Given the description of an element on the screen output the (x, y) to click on. 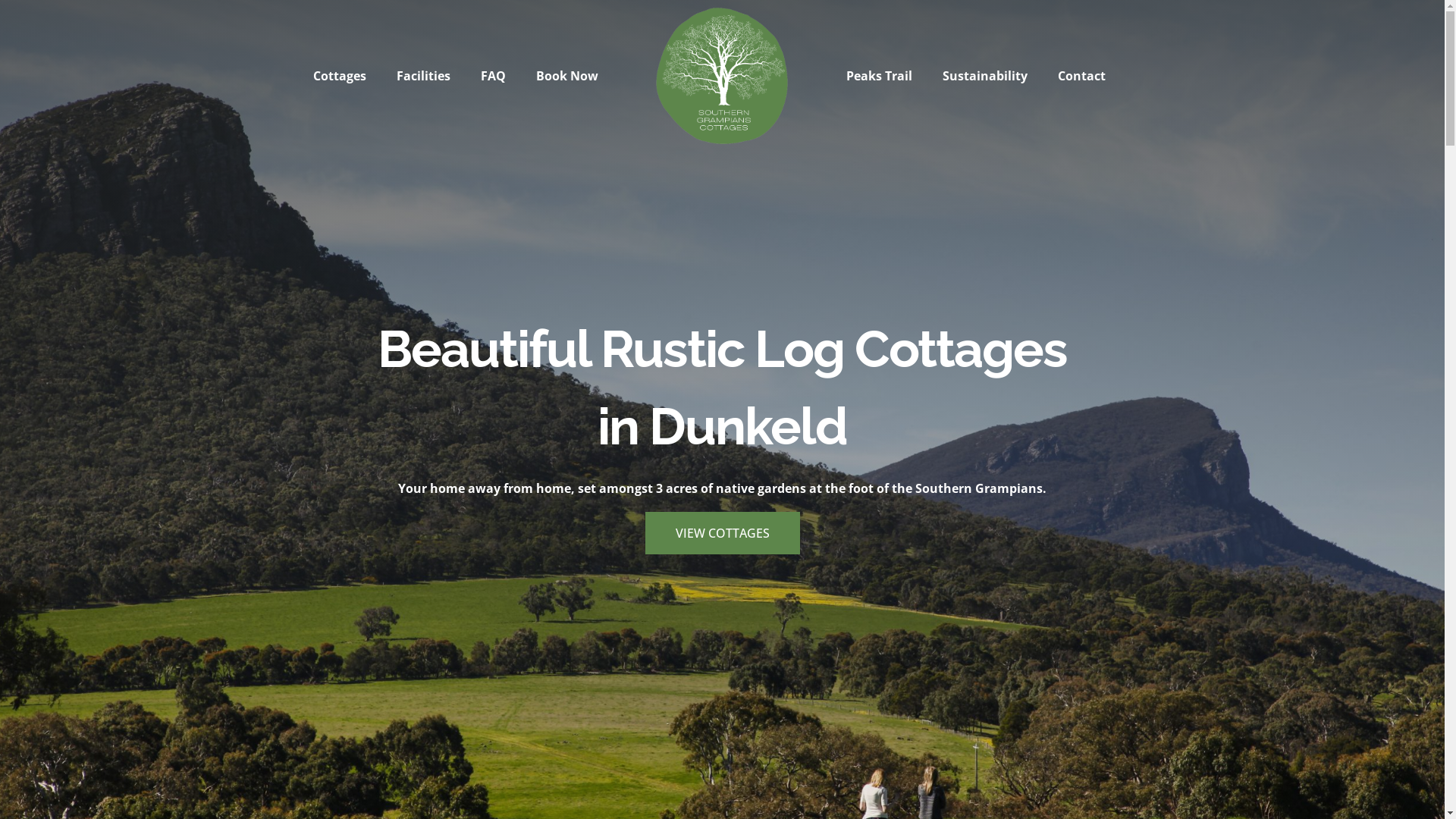
Facilities Element type: text (423, 75)
Book Now Element type: text (567, 75)
Sustainability Element type: text (984, 75)
Cottages Element type: text (339, 75)
FAQ Element type: text (492, 75)
VIEW COTTAGES Element type: text (721, 532)
Contact Element type: text (1081, 75)
Peaks Trail Element type: text (879, 75)
